Given the description of an element on the screen output the (x, y) to click on. 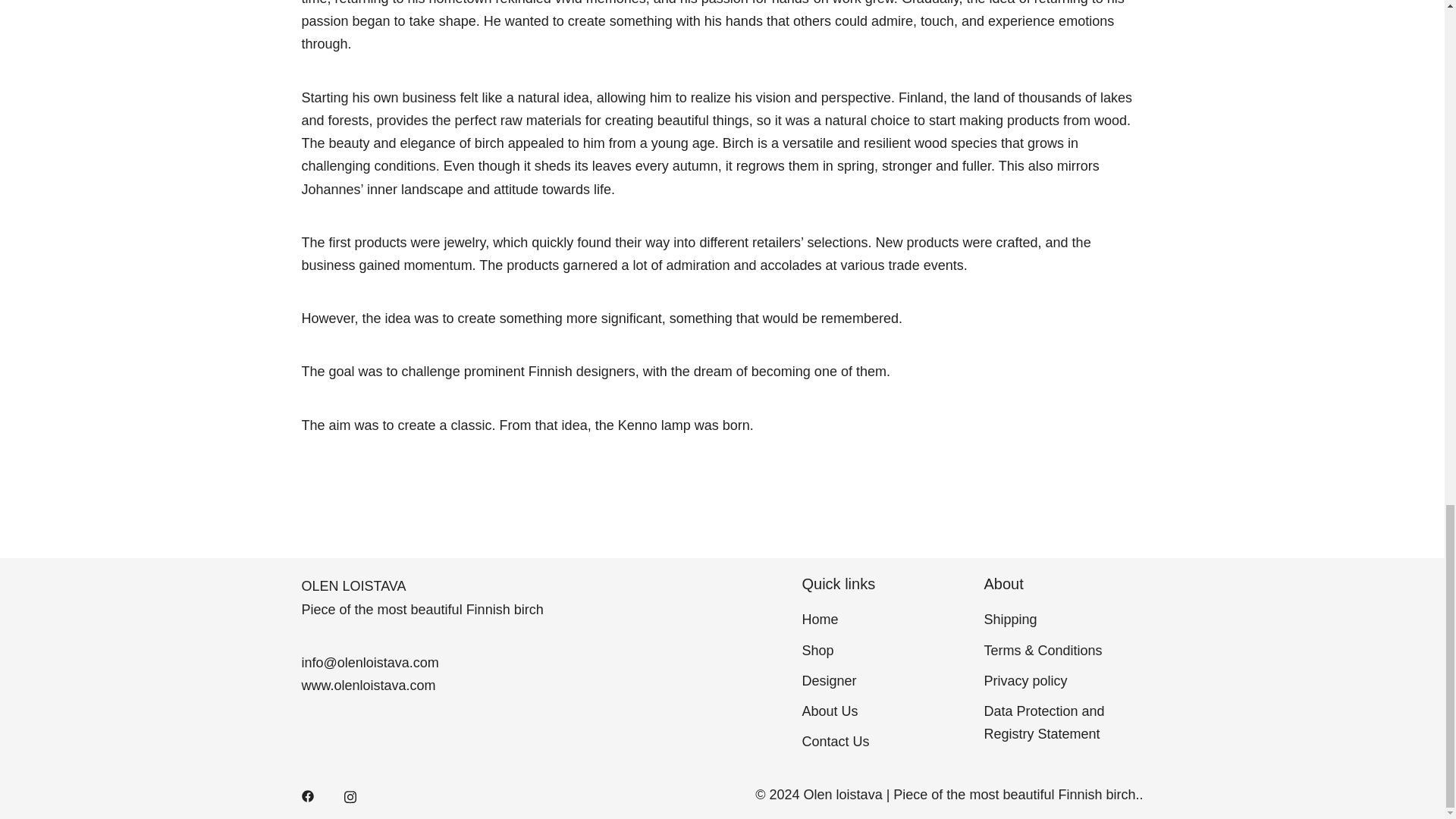
Home (820, 619)
About Us (830, 711)
Shop (818, 650)
Data Protection and Registry Statement (1044, 722)
Designer (829, 680)
Shipping (1010, 619)
Contact Us (835, 741)
Privacy policy (1025, 680)
